Given the description of an element on the screen output the (x, y) to click on. 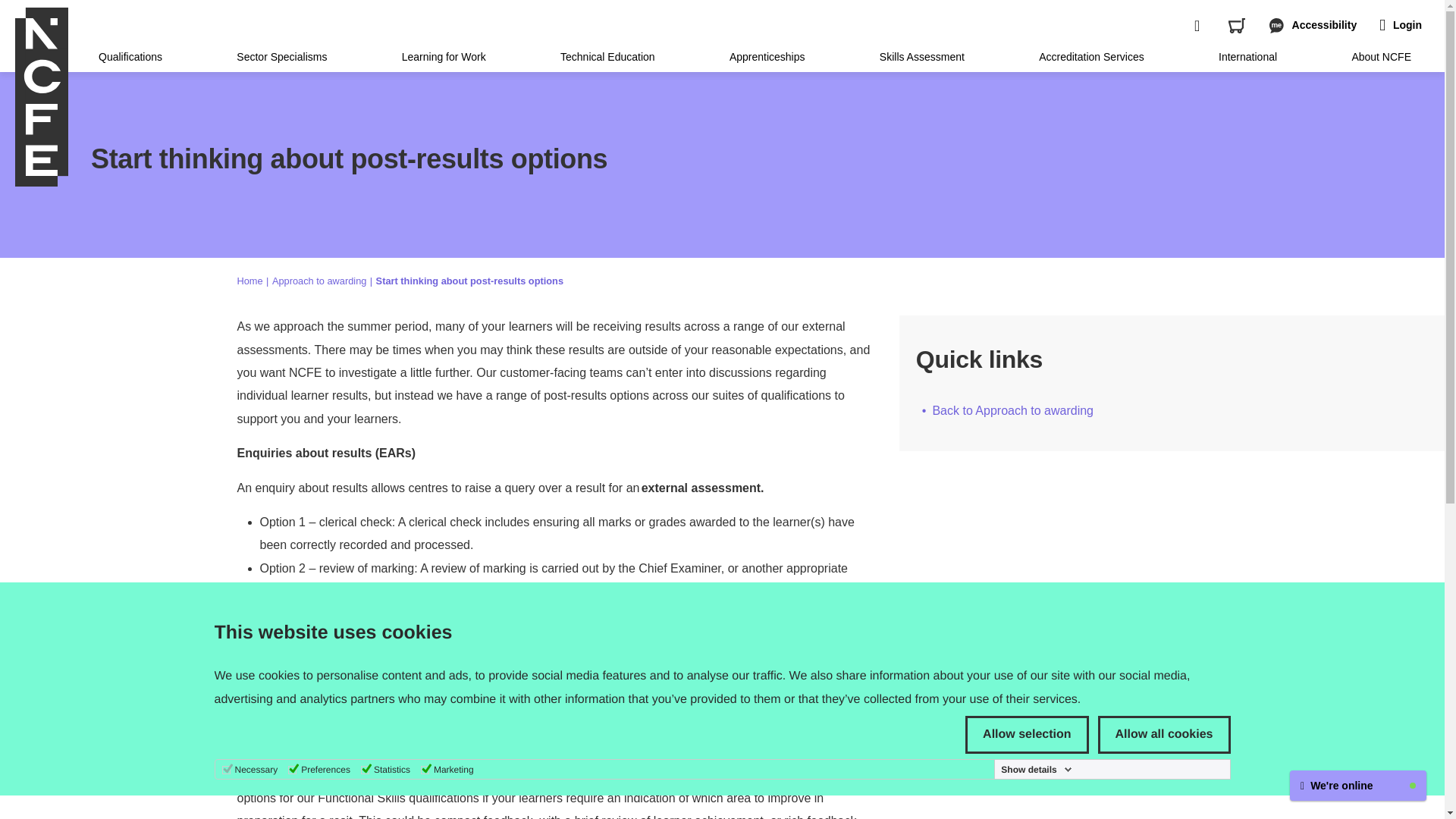
Show details (1035, 769)
Allow all cookies (1163, 734)
Allow selection (1026, 734)
